Given the description of an element on the screen output the (x, y) to click on. 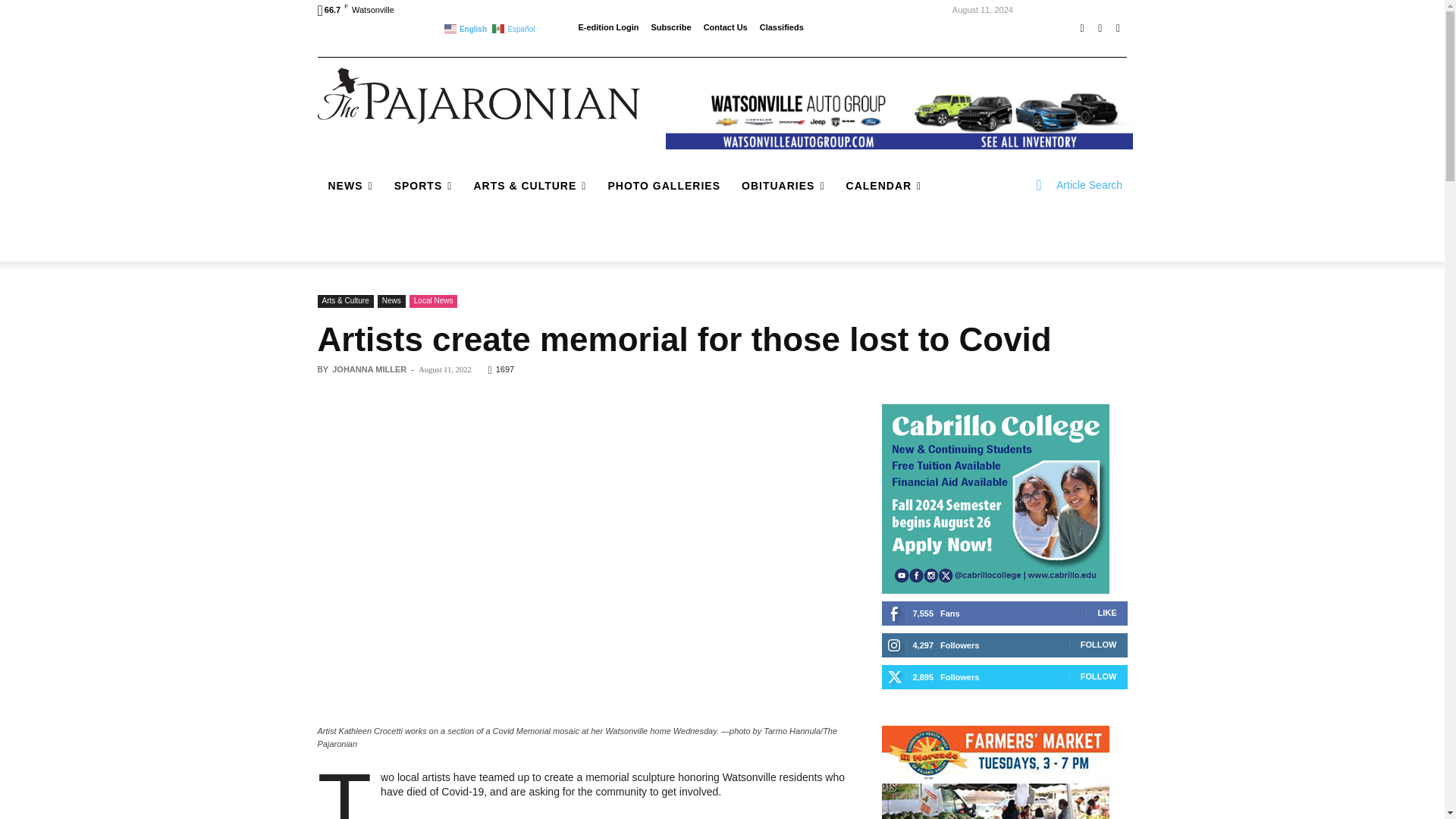
E-edition Login (608, 27)
Twitter (1117, 28)
Instagram (1099, 28)
English (466, 27)
Subscribe (670, 27)
Facebook (1081, 28)
Contact Us (725, 27)
